Given the description of an element on the screen output the (x, y) to click on. 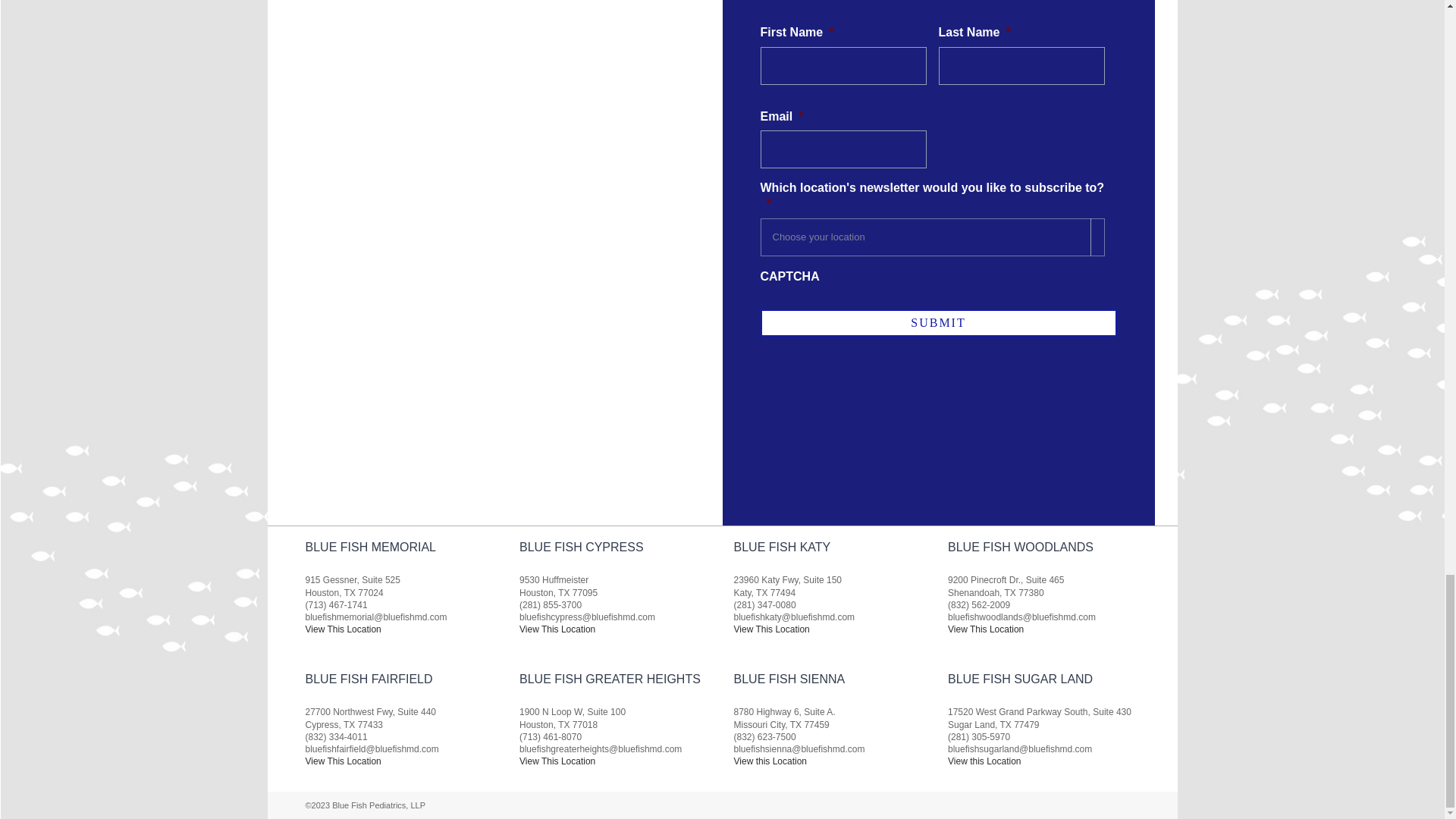
Submit (938, 322)
